Given the description of an element on the screen output the (x, y) to click on. 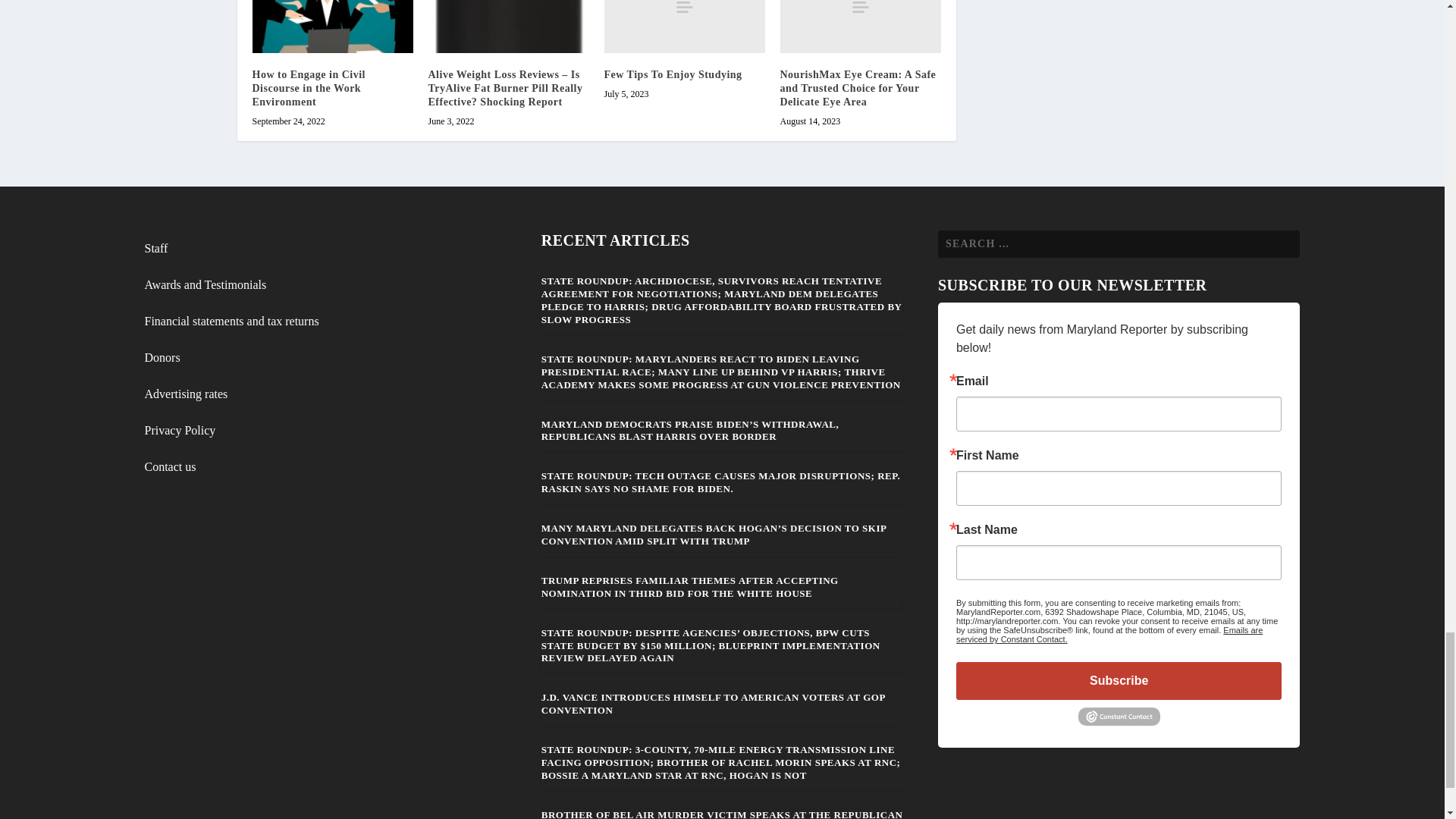
How to Engage in Civil Discourse in the Work Environment (308, 87)
Few Tips To Enjoy Studying (672, 74)
